Given the description of an element on the screen output the (x, y) to click on. 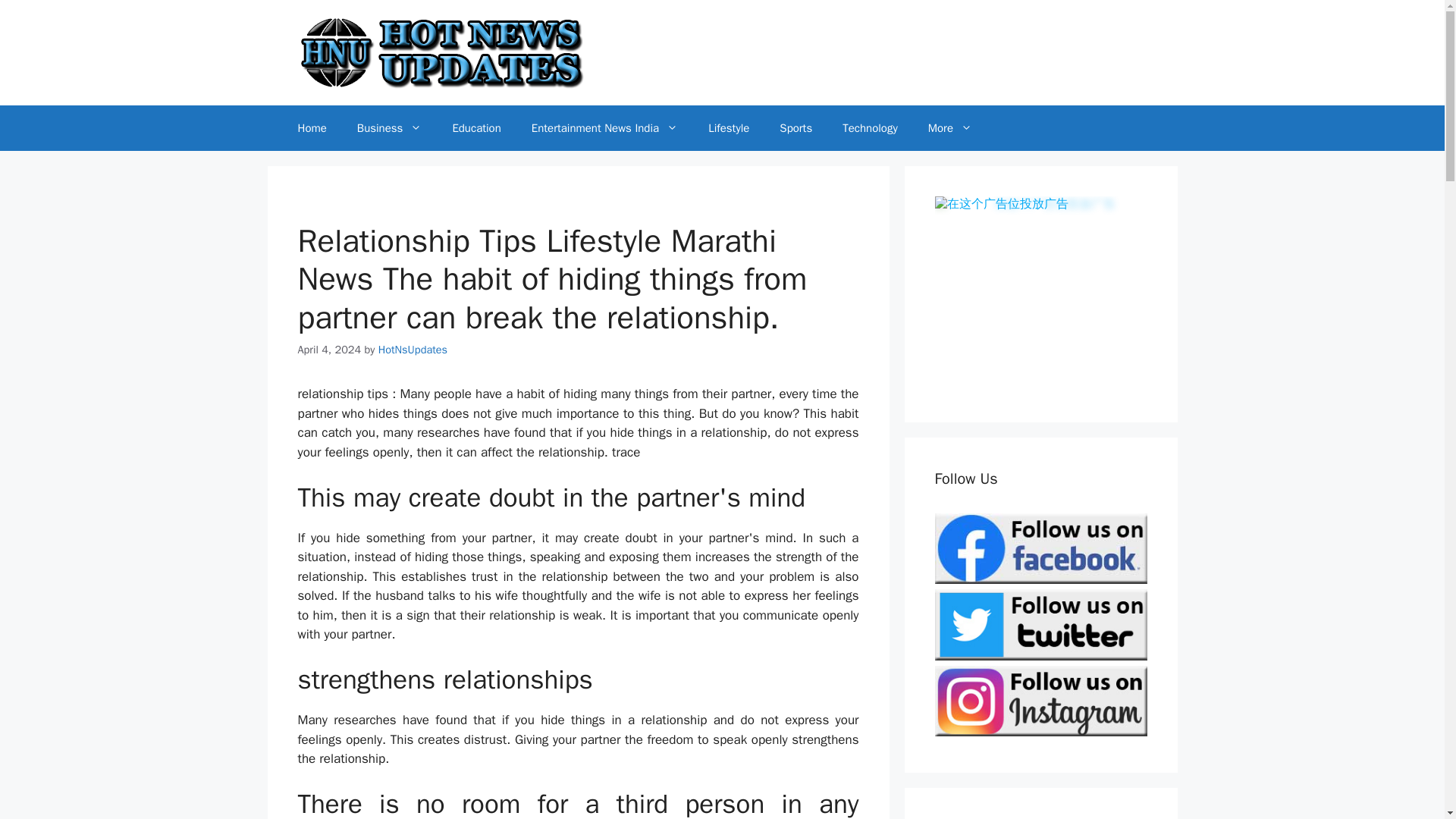
Technology (869, 127)
Entertainment News India (604, 127)
Home (311, 127)
HotNsUpdates (412, 349)
Facebook (1040, 547)
Sports (795, 127)
Lifestyle (728, 127)
More (949, 127)
Education (475, 127)
View all posts by HotNsUpdates (412, 349)
Business (390, 127)
